Given the description of an element on the screen output the (x, y) to click on. 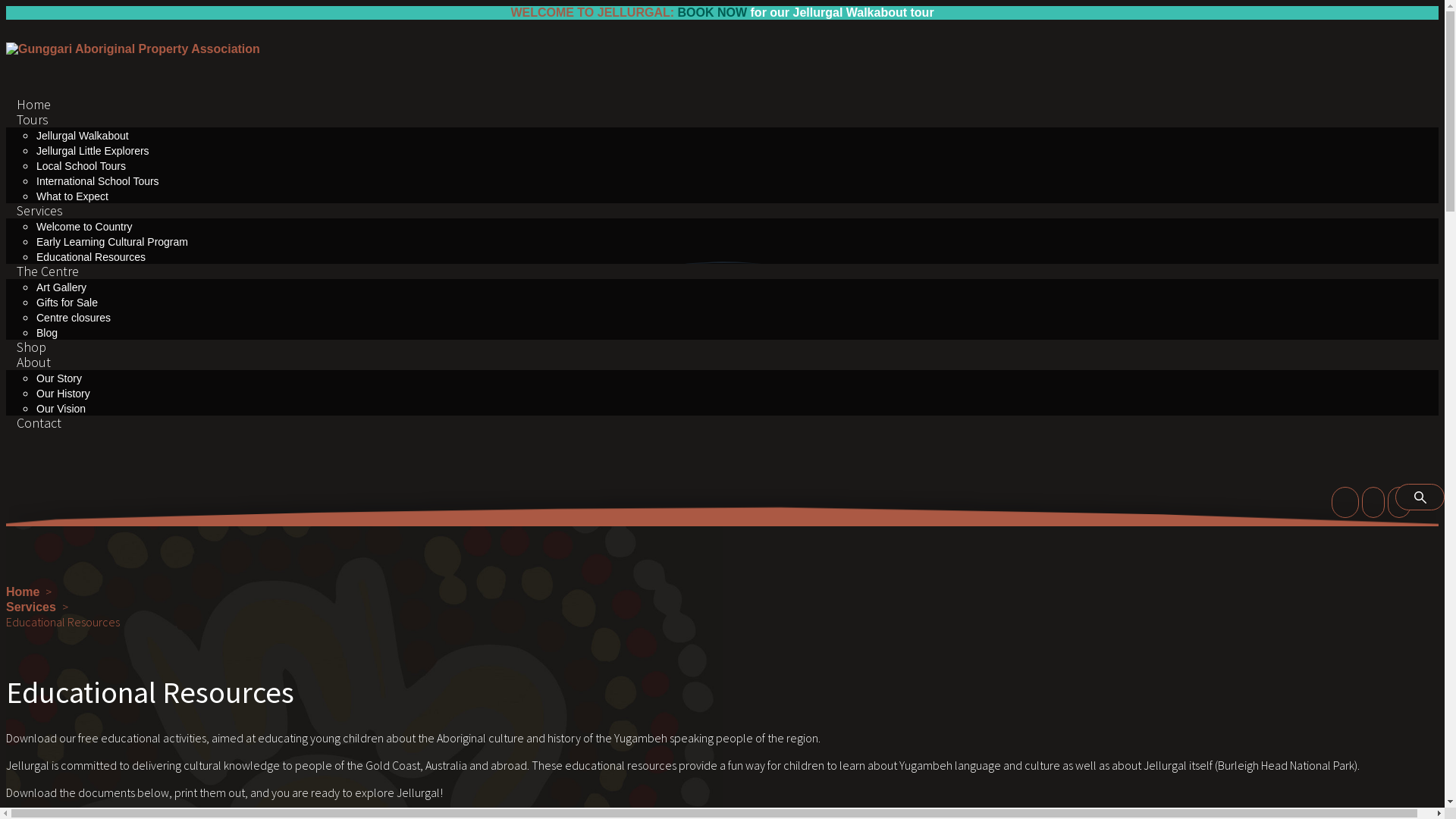
Our History Element type: text (63, 392)
Art Gallery Element type: text (61, 286)
Services Element type: text (39, 211)
International School Tours Element type: text (97, 180)
Our Vision Element type: text (60, 407)
Educational Resources Element type: text (90, 256)
Our Story Element type: text (58, 377)
Gifts for Sale Element type: text (66, 301)
Shop Element type: text (31, 347)
Local School Tours Element type: text (80, 165)
Jellurgal Little Explorers Element type: text (92, 150)
Blog Element type: text (46, 332)
Go to Jellurgal home page Element type: hover (133, 48)
About Element type: text (33, 362)
What to Expect Element type: text (72, 195)
Welcome to Country Element type: text (84, 225)
The Centre Element type: text (47, 271)
Home Element type: text (33, 104)
Centre closures Element type: text (73, 316)
BOOK NOW Element type: text (712, 12)
Early Learning Cultural Program Element type: text (112, 241)
Services Element type: text (31, 606)
Home Element type: text (22, 591)
Contact Element type: text (39, 423)
Tours Element type: text (32, 120)
Jellurgal Walkabout Element type: text (82, 134)
